Given the description of an element on the screen output the (x, y) to click on. 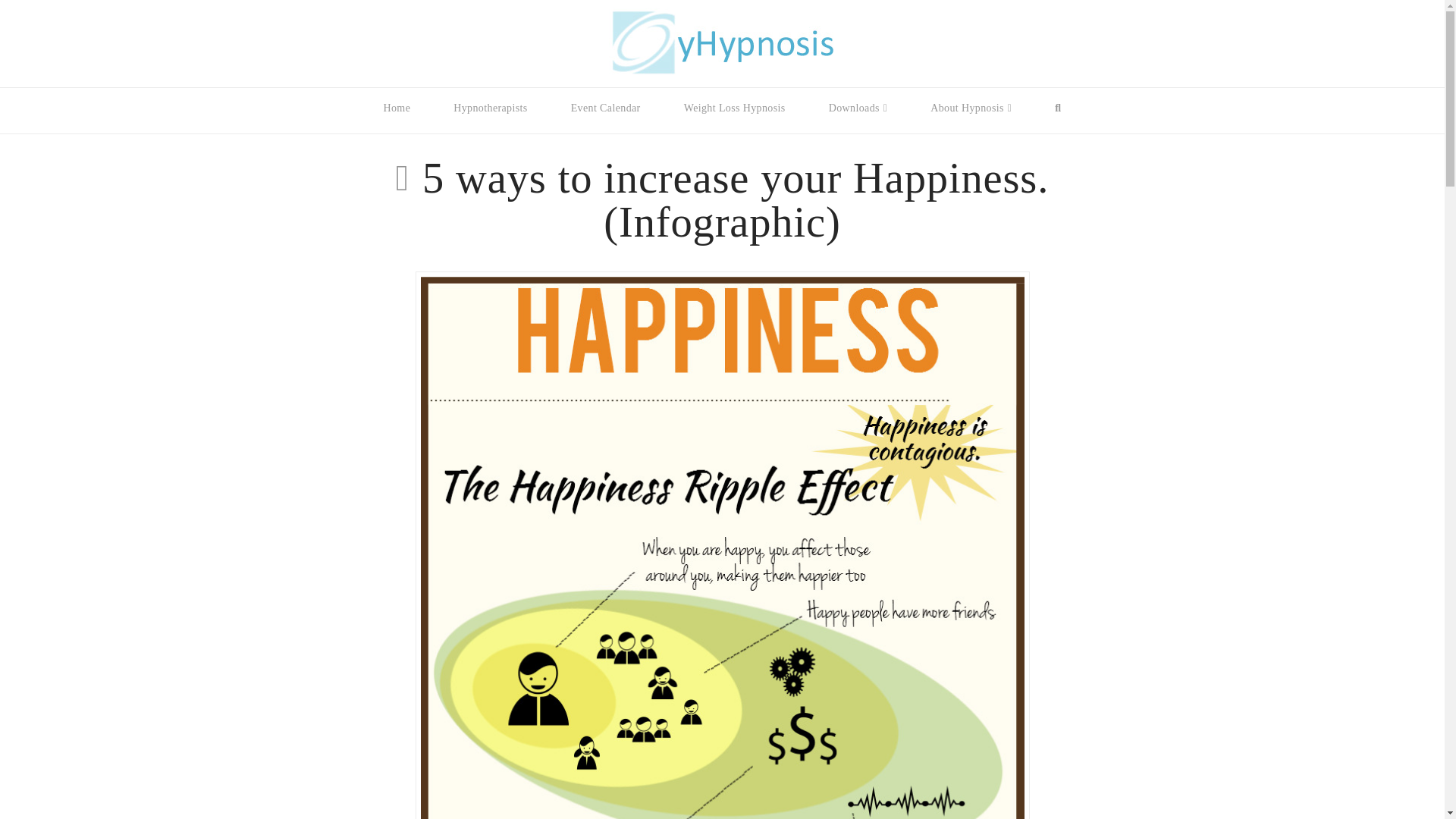
Home (396, 118)
Hypnotherapists (490, 118)
Downloads (857, 118)
Event Calendar (605, 118)
About Hypnosis (970, 118)
Weight Loss Hypnosis (734, 118)
